Given the description of an element on the screen output the (x, y) to click on. 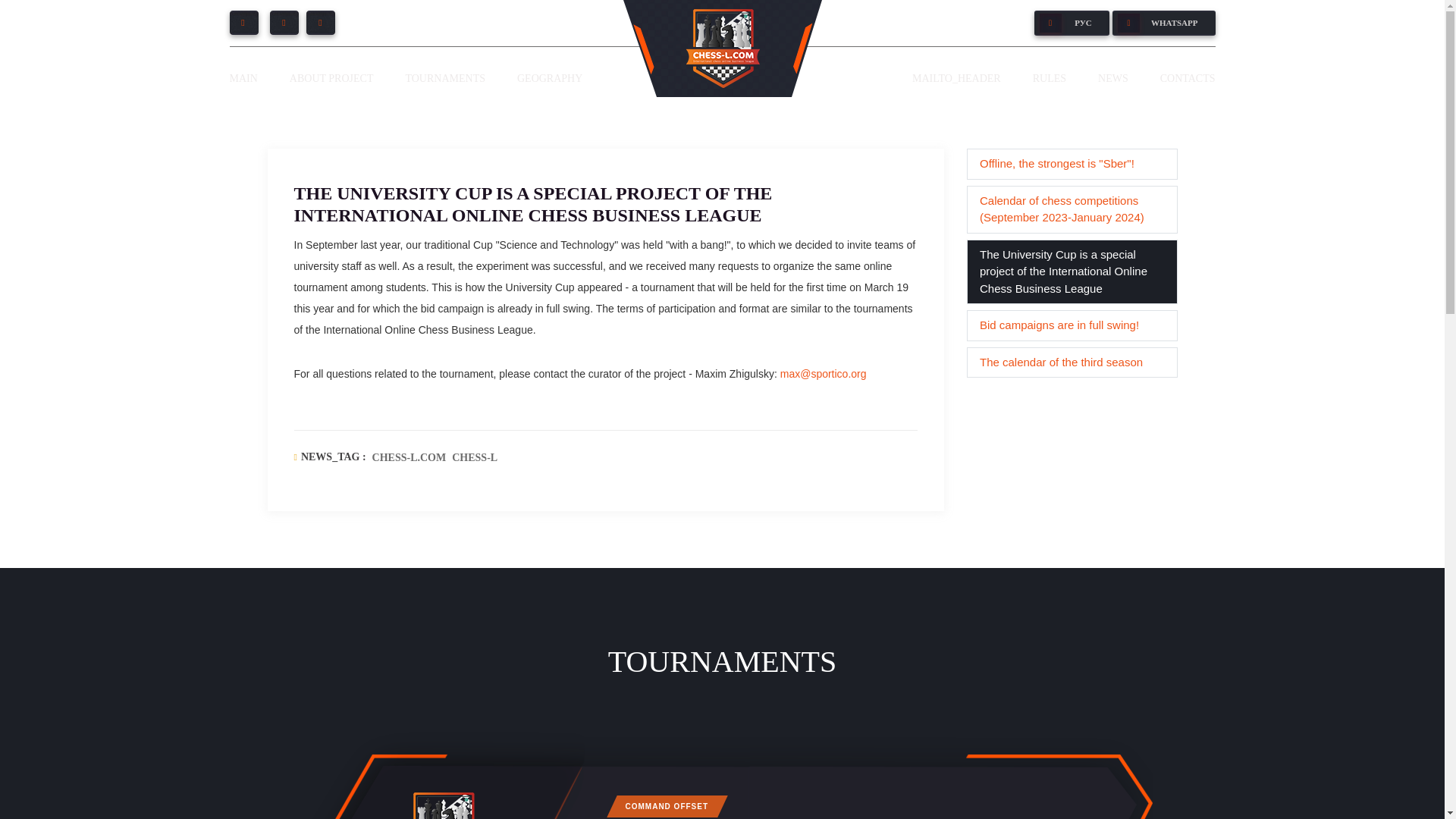
TOURNAMENTS (444, 78)
CHESS-L (474, 457)
Offline, the strongest is "Sber"! (1071, 163)
GEOGRAPHY (549, 78)
CHESS-L.COM (409, 457)
ABOUT PROJECT (331, 78)
WHATSAPP (1163, 23)
